Given the description of an element on the screen output the (x, y) to click on. 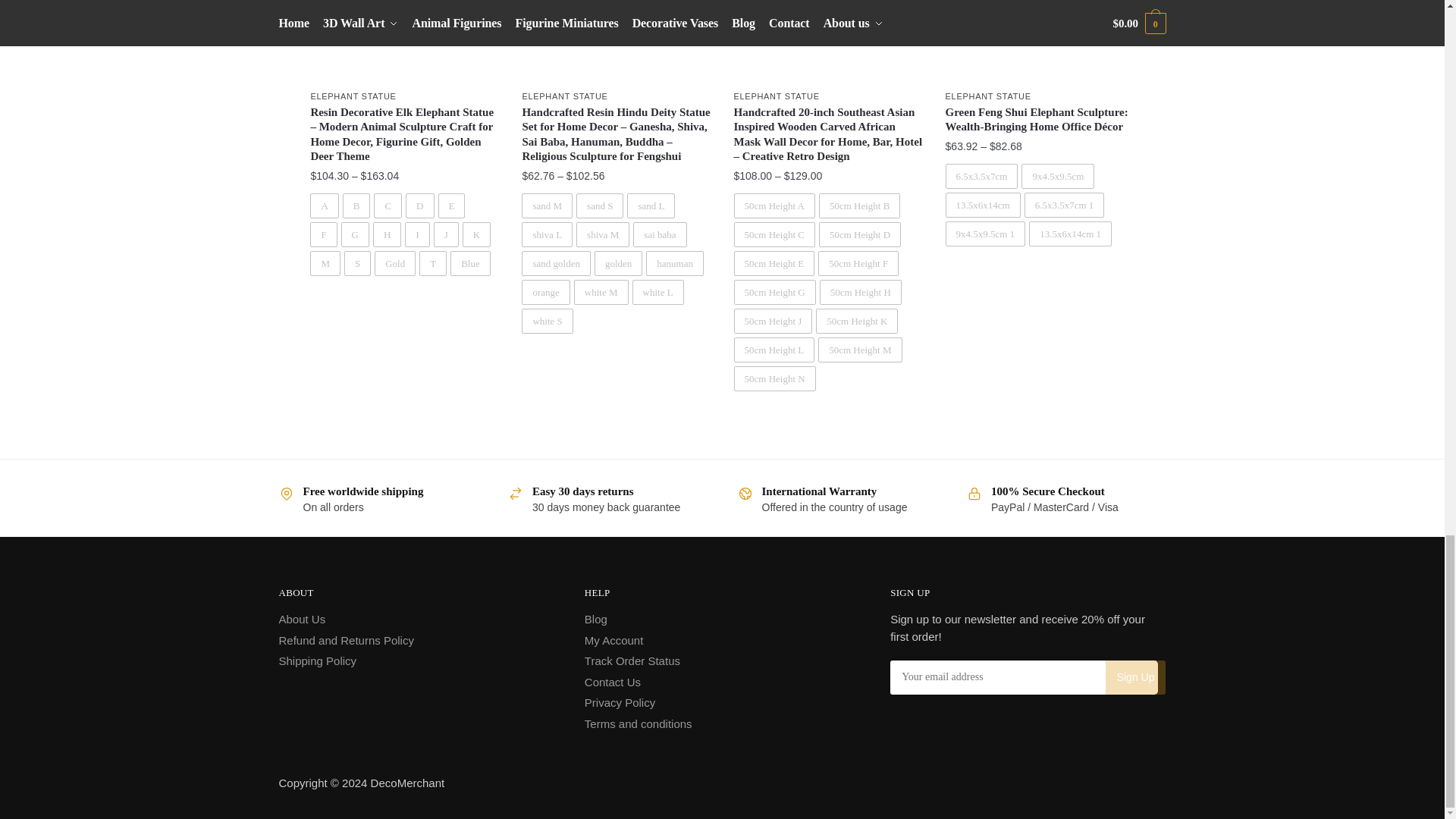
Sign up (1135, 677)
